Given the description of an element on the screen output the (x, y) to click on. 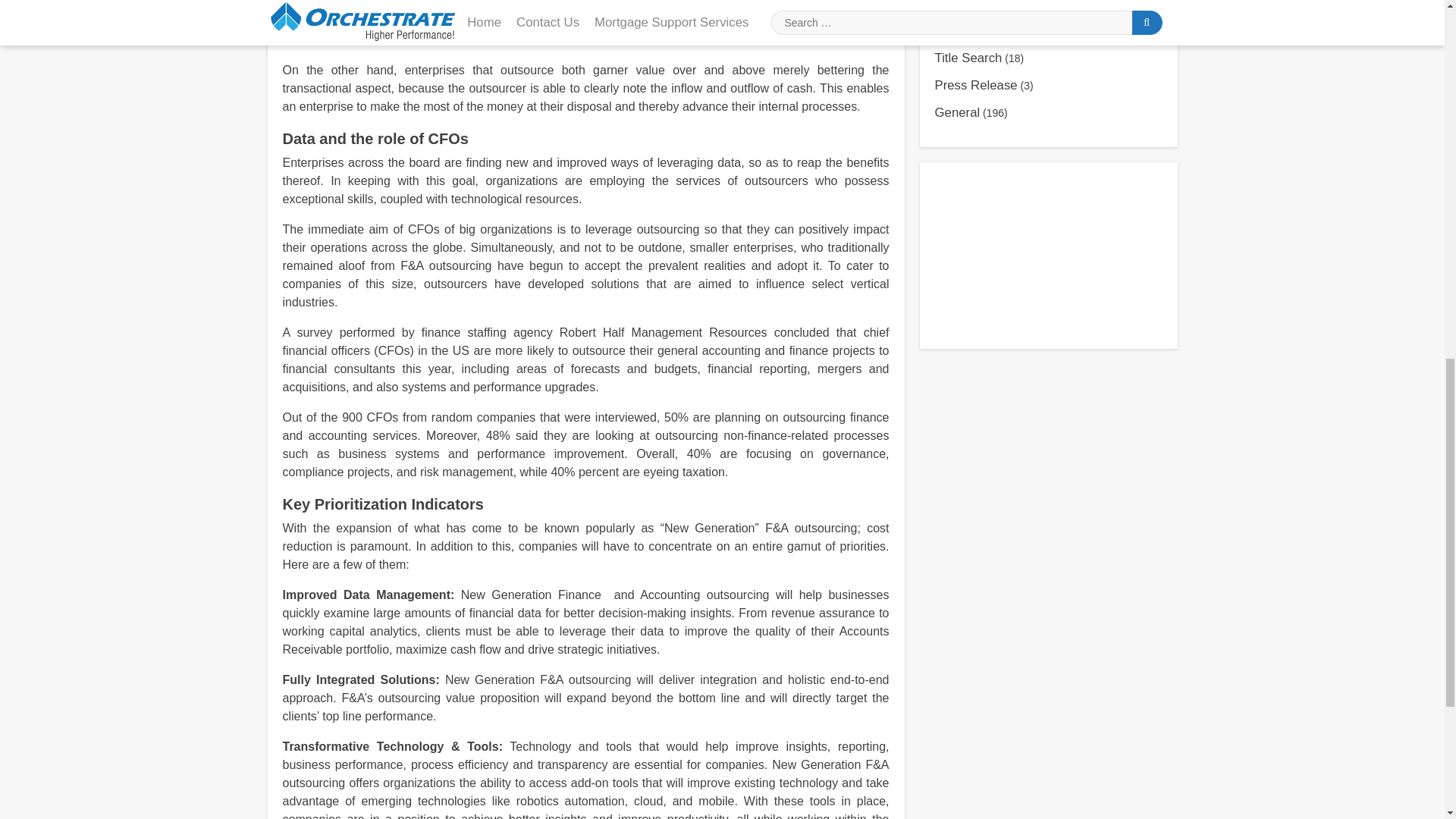
Title Search (967, 57)
Technology (966, 30)
Press Release (975, 84)
General (956, 112)
YouTube video player (1047, 253)
Mortgage (961, 5)
